Given the description of an element on the screen output the (x, y) to click on. 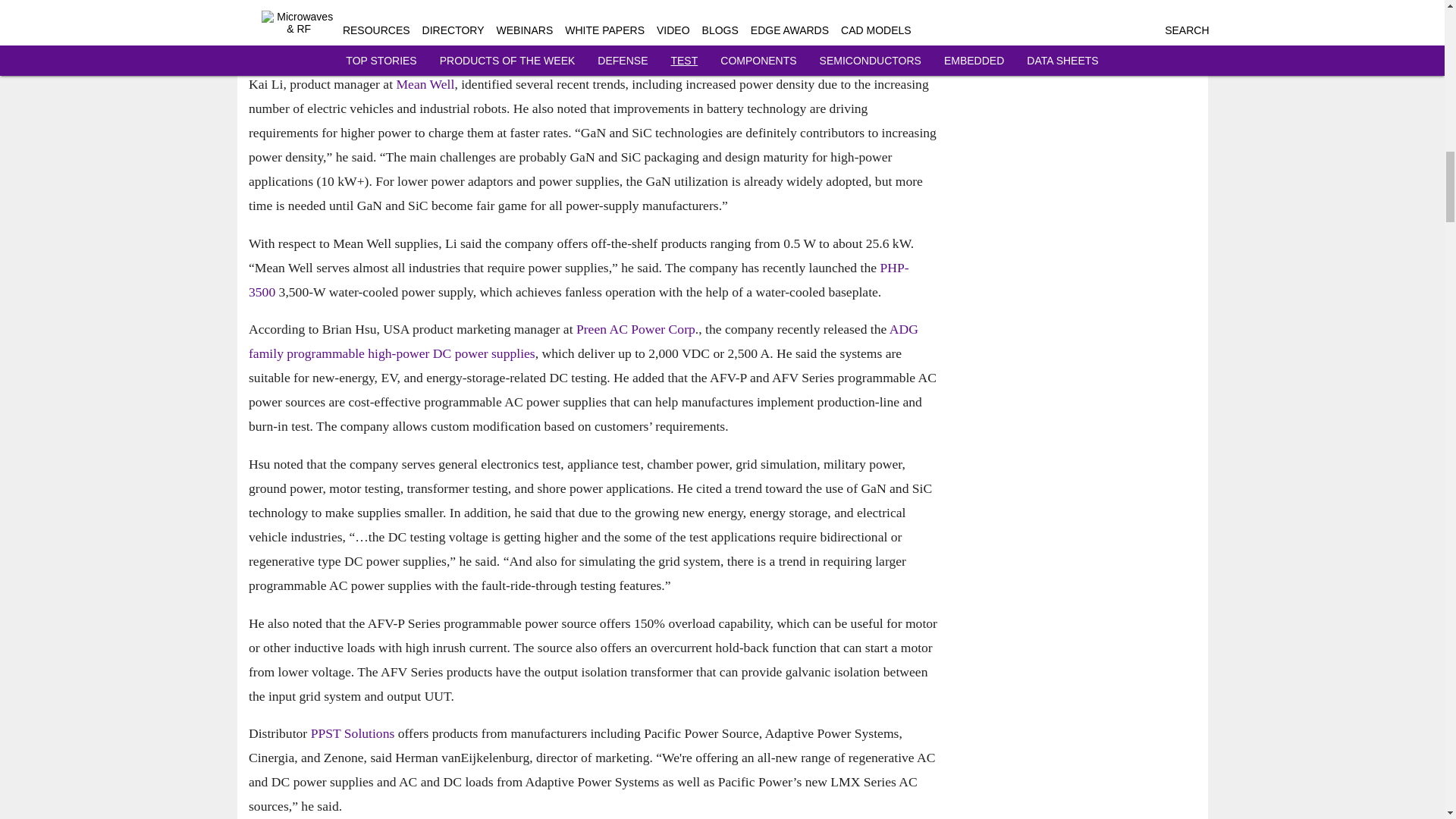
PPST Solutions (352, 733)
PHP-3500 (578, 279)
Mean Well (425, 83)
ADG family programmable high-power DC power supplies (583, 341)
Preen AC Power Corp (634, 328)
